Given the description of an element on the screen output the (x, y) to click on. 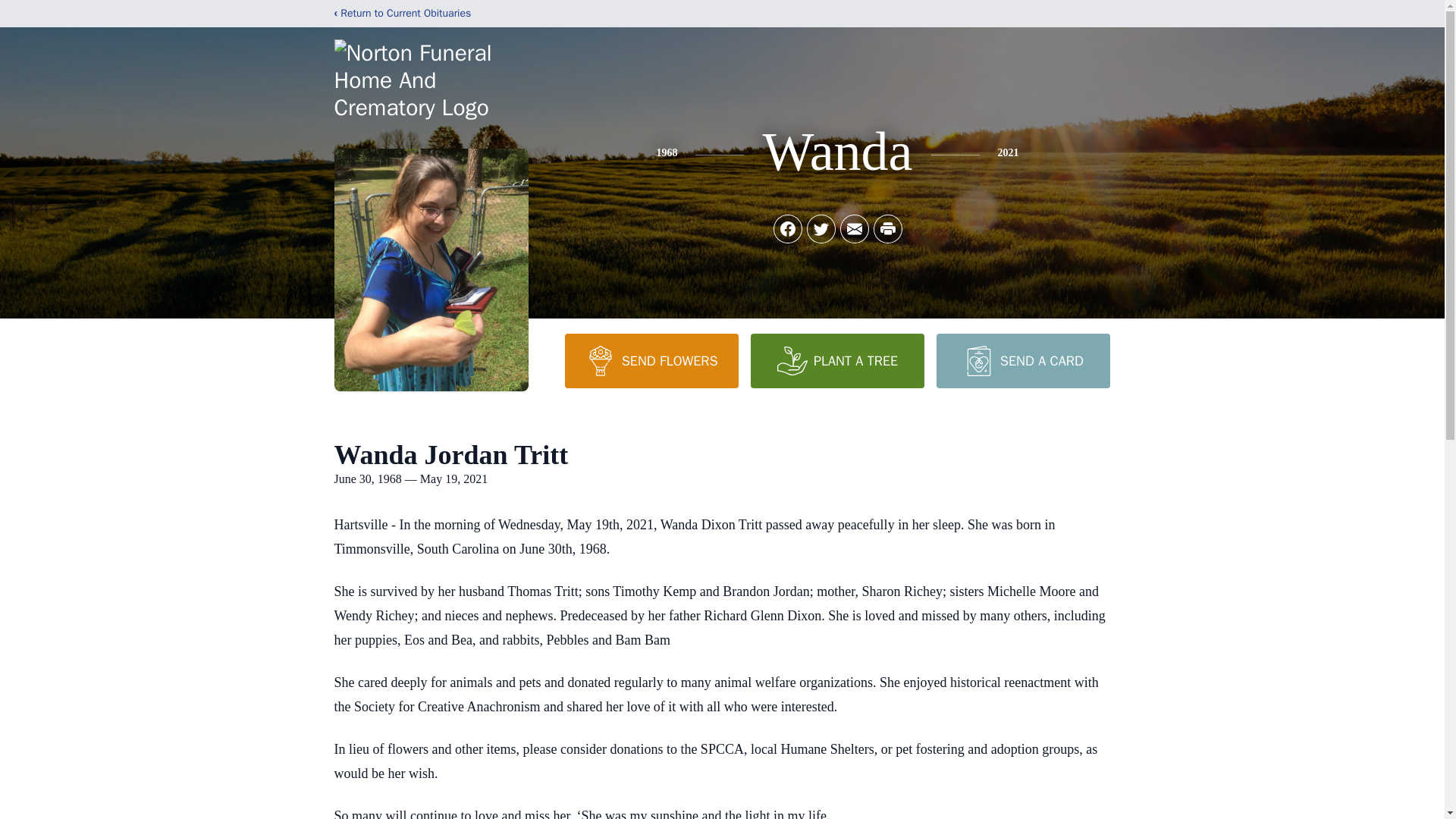
PLANT A TREE (837, 360)
SEND FLOWERS (651, 360)
SEND A CARD (1022, 360)
